Given the description of an element on the screen output the (x, y) to click on. 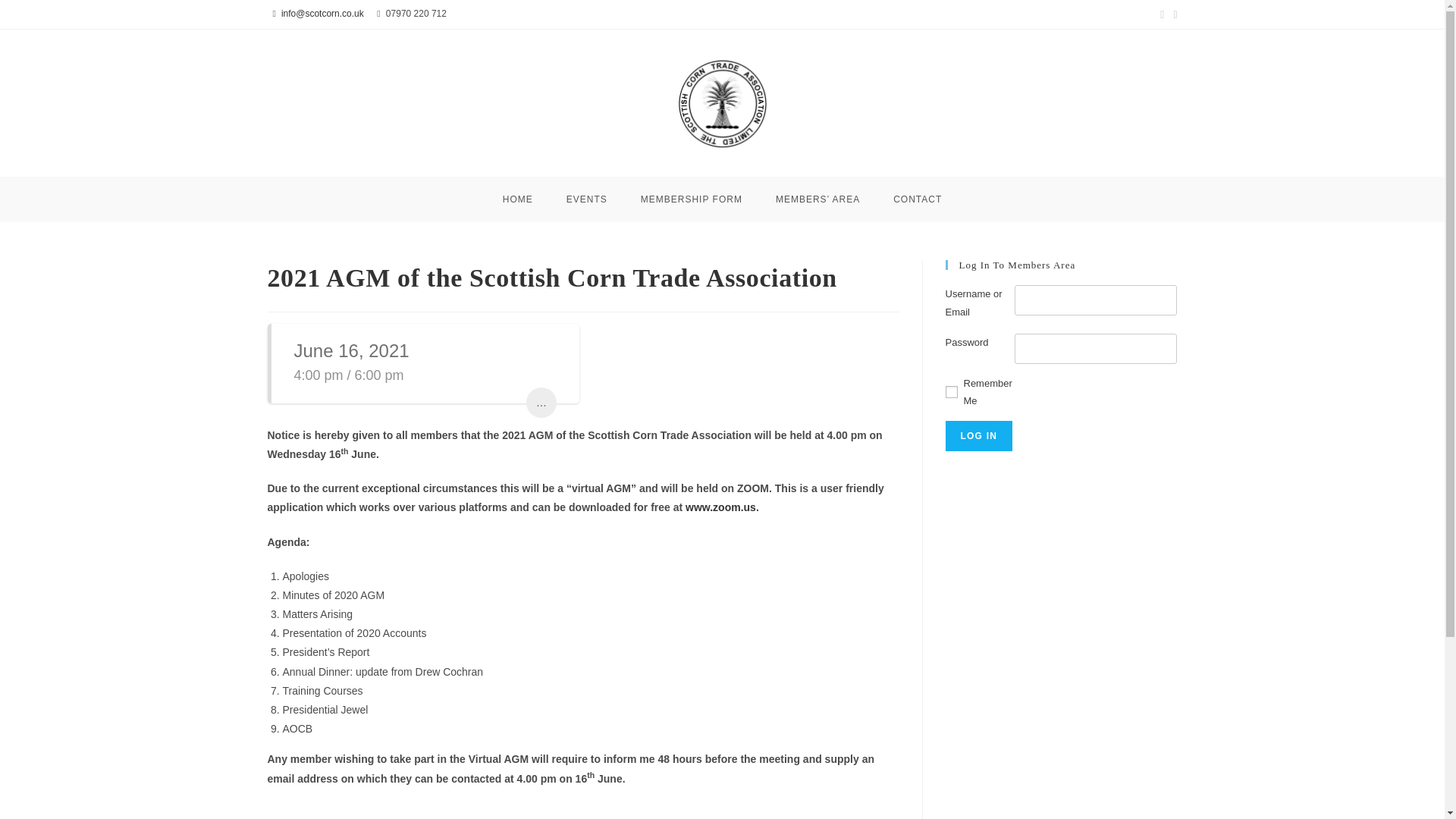
Log In (977, 435)
forever (950, 391)
EVENTS (587, 198)
CONTACT (917, 198)
... (540, 402)
HOME (518, 198)
www.zoom.us (720, 507)
Log In (977, 435)
MEMBERSHIP FORM (691, 198)
